Given the description of an element on the screen output the (x, y) to click on. 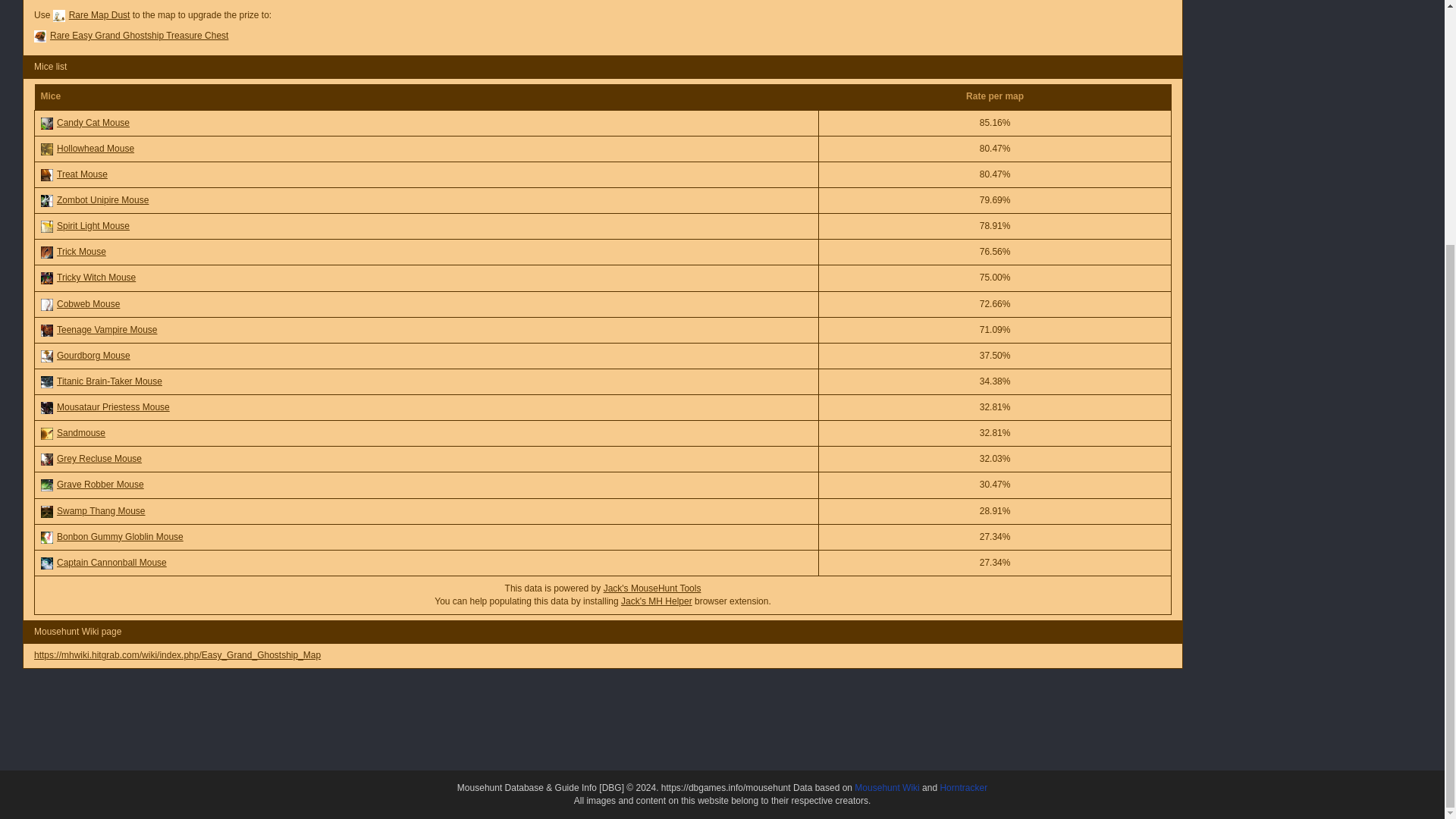
Zombot Unipire Mouse (46, 200)
Rare Map Dust (58, 15)
Sandmouse (46, 433)
Rare Easy Grand Ghostship Treasure Chest (138, 35)
Hollowhead Mouse (46, 149)
Rare Easy Grand Ghostship Treasure Chest (39, 36)
Trick Mouse (46, 252)
Treat Mouse (46, 174)
Teenage Vampire Mouse (46, 330)
Candy Cat Mouse (46, 123)
Spirit Light Mouse (46, 226)
Gourdborg Mouse (46, 356)
Titanic Brain-Taker Mouse (46, 381)
Tricky Witch Mouse (46, 277)
Rare Map Dust (99, 14)
